Given the description of an element on the screen output the (x, y) to click on. 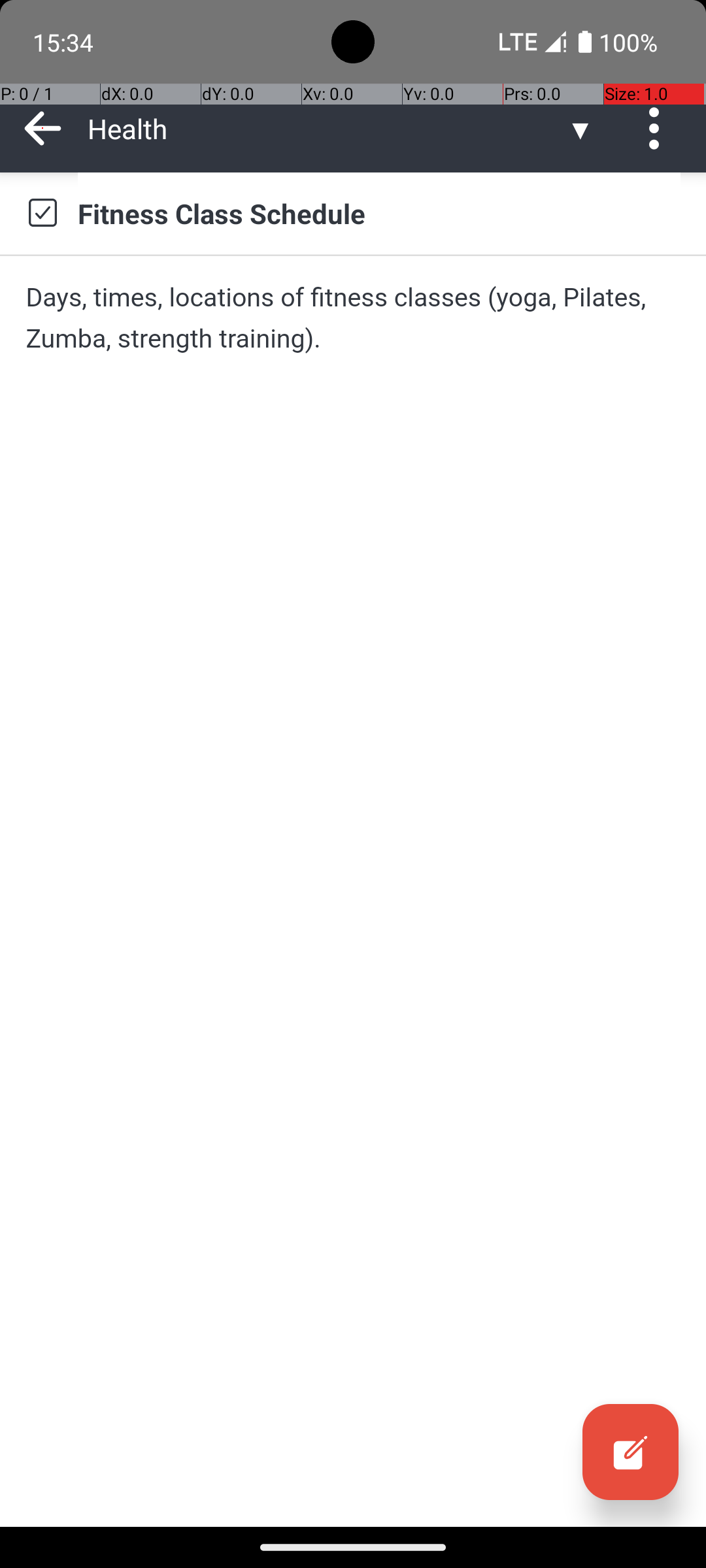
Days, times, locations of fitness classes (yoga, Pilates, Zumba, strength training). Element type: android.widget.TextView (352, 317)
